Given the description of an element on the screen output the (x, y) to click on. 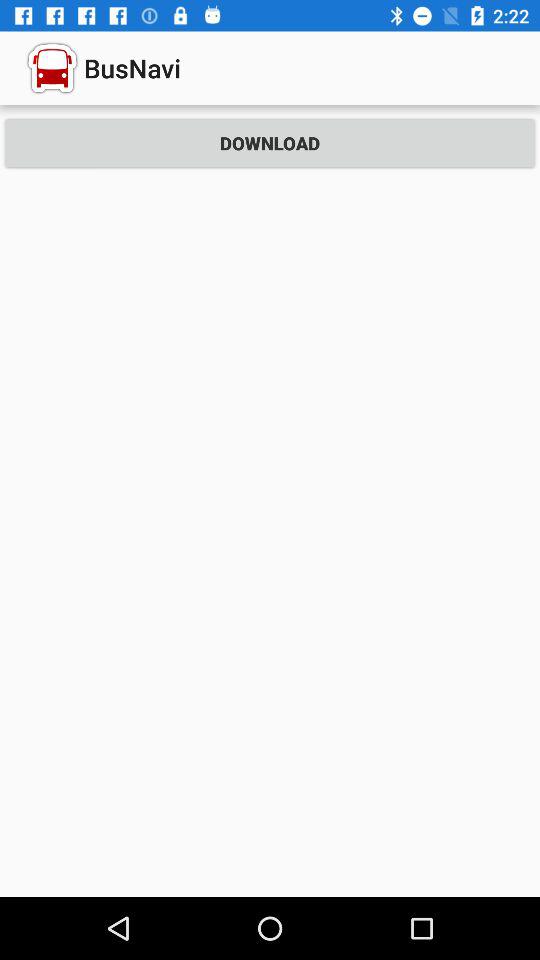
flip until the download (270, 142)
